Given the description of an element on the screen output the (x, y) to click on. 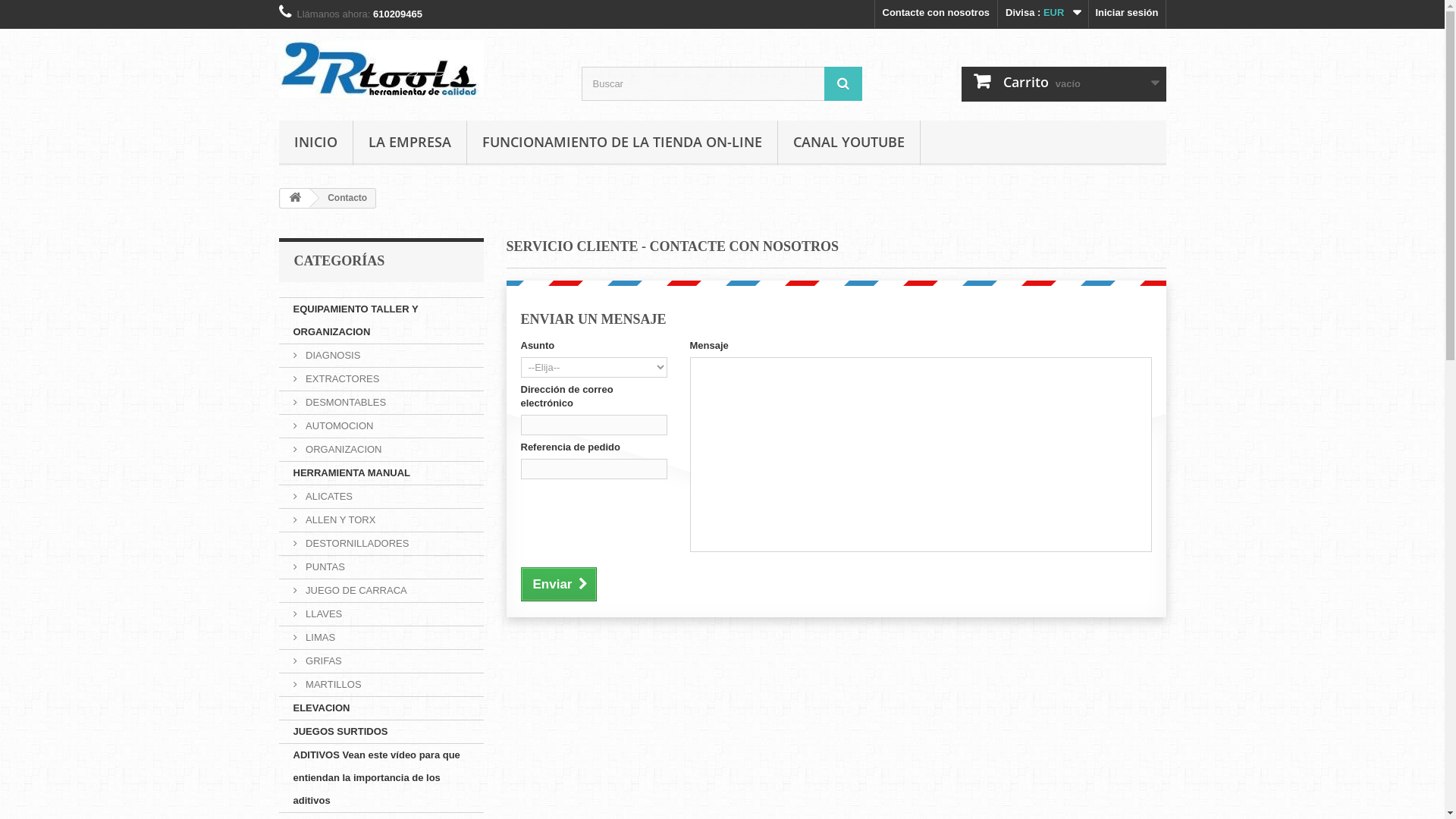
LIMAS Element type: text (381, 637)
ELEVACION Element type: text (381, 708)
ORGANIZACION Element type: text (381, 449)
LLAVES Element type: text (381, 614)
PUNTAS Element type: text (381, 567)
GRIFAS Element type: text (381, 661)
JUEGO DE CARRACA Element type: text (381, 590)
EXTRACTORES Element type: text (381, 379)
INICIO Element type: text (315, 142)
AUTOMOCION Element type: text (381, 426)
ALICATES Element type: text (381, 496)
LA EMPRESA Element type: text (409, 142)
DESTORNILLADORES Element type: text (381, 543)
EQUIPAMIENTO TALLER Y ORGANIZACION Element type: text (381, 321)
Enviar Element type: text (558, 584)
JUEGOS SURTIDOS Element type: text (381, 731)
2RTOOLS| herramientas de calidad Element type: hover (419, 68)
MARTILLOS Element type: text (381, 684)
CANAL YOUTUBE Element type: text (848, 142)
DESMONTABLES Element type: text (381, 402)
Contacte con nosotros Element type: text (936, 14)
FUNCIONAMIENTO DE LA TIENDA ON-LINE Element type: text (622, 142)
DIAGNOSIS Element type: text (381, 355)
ALLEN Y TORX Element type: text (381, 520)
HERRAMIENTA MANUAL Element type: text (381, 473)
Volver a Inicio Element type: hover (294, 197)
